Given the description of an element on the screen output the (x, y) to click on. 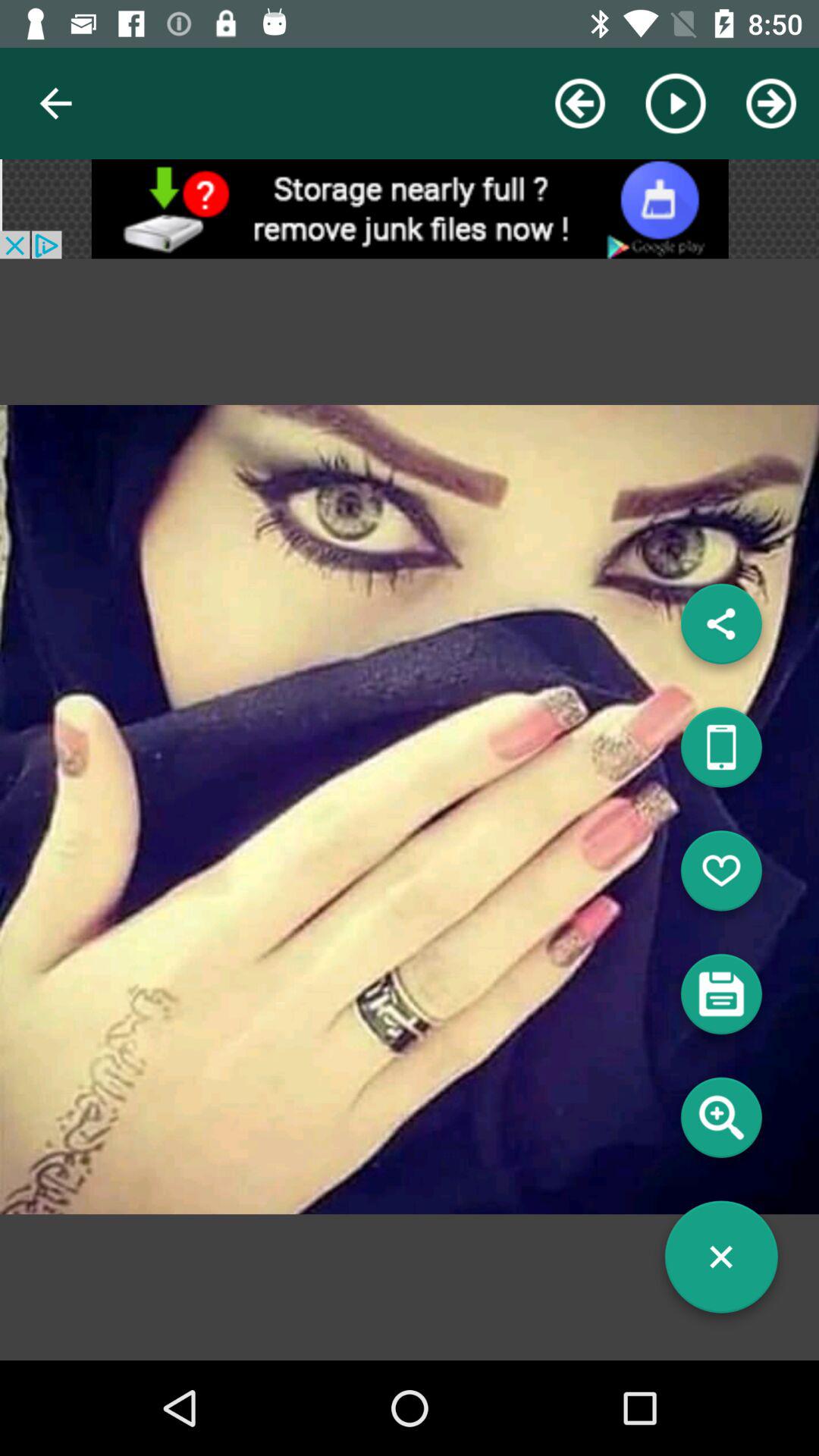
like picture (721, 876)
